Given the description of an element on the screen output the (x, y) to click on. 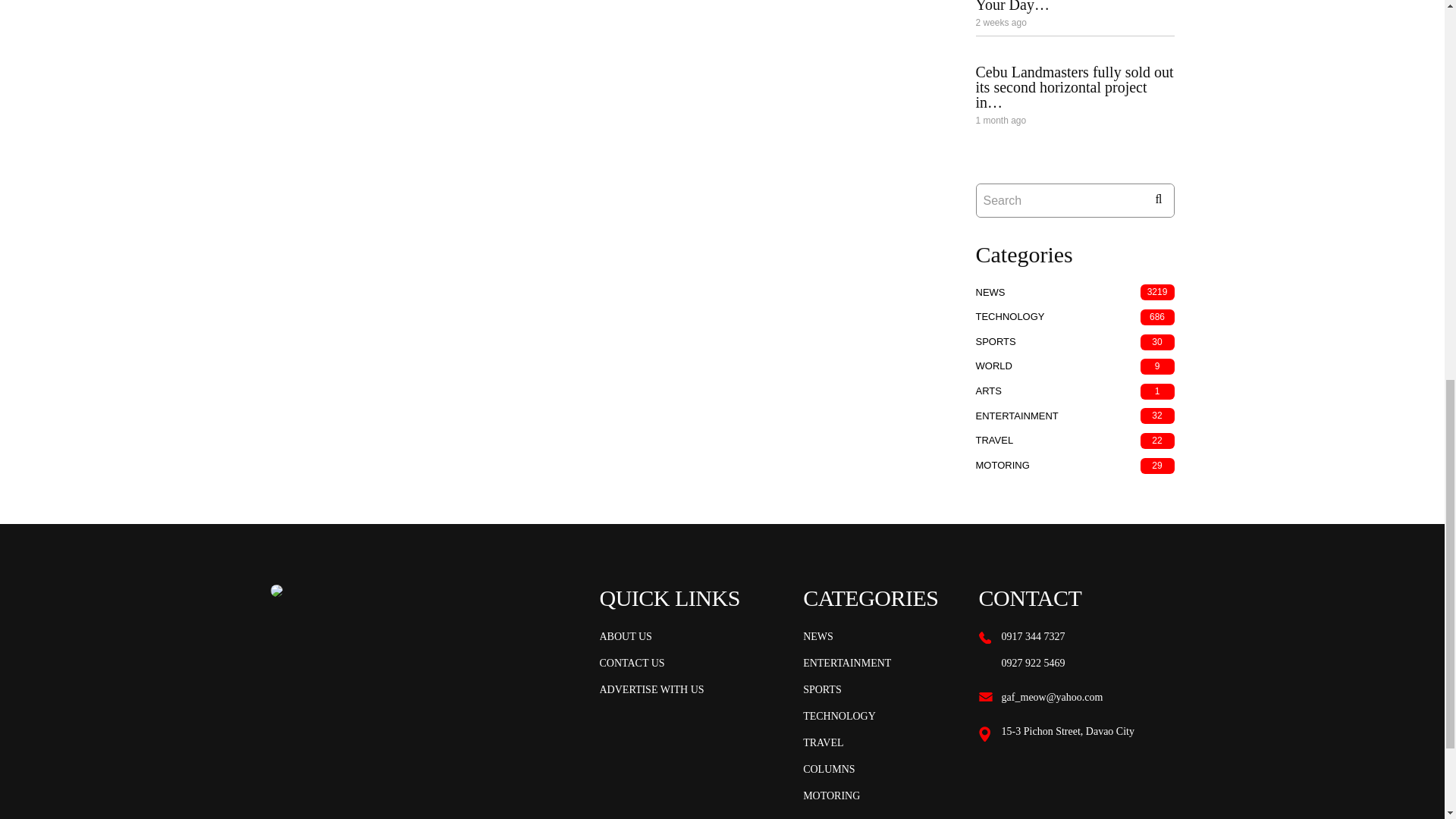
MOTORING (1002, 464)
ABOUT US (624, 636)
TRAVEL (994, 439)
CONTACT US (630, 662)
ENTERTAINMENT (1016, 415)
ARTS (988, 390)
WORLD (993, 365)
NEWS (817, 636)
ADVERTISE WITH US (650, 689)
SPORTS (994, 341)
